Given the description of an element on the screen output the (x, y) to click on. 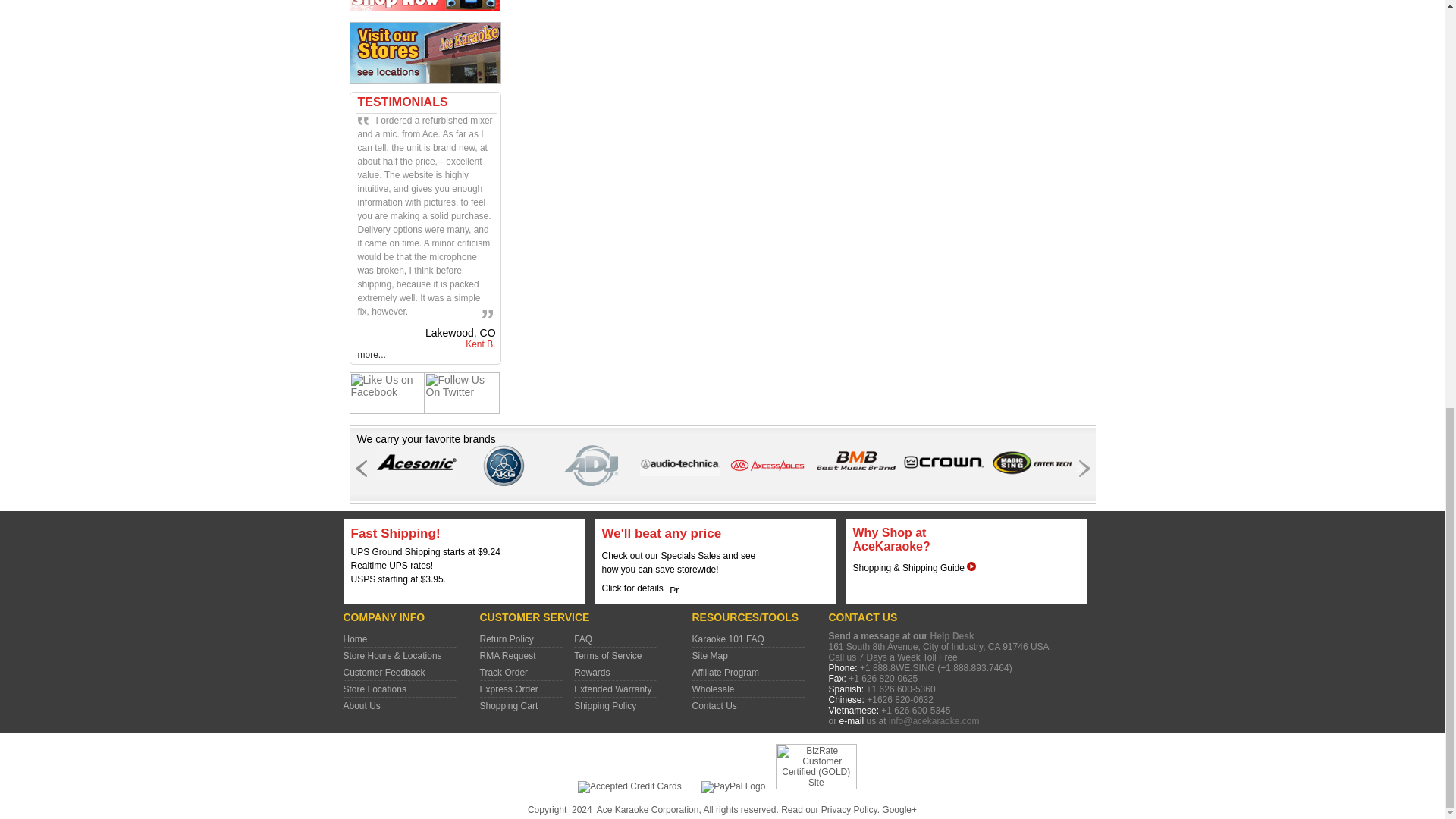
Click for details (632, 588)
Home (354, 638)
more... (371, 354)
About Us (361, 706)
Karaoke Retail Store Locations (374, 688)
Click for details (907, 567)
Customer Feedback (383, 672)
